Given the description of an element on the screen output the (x, y) to click on. 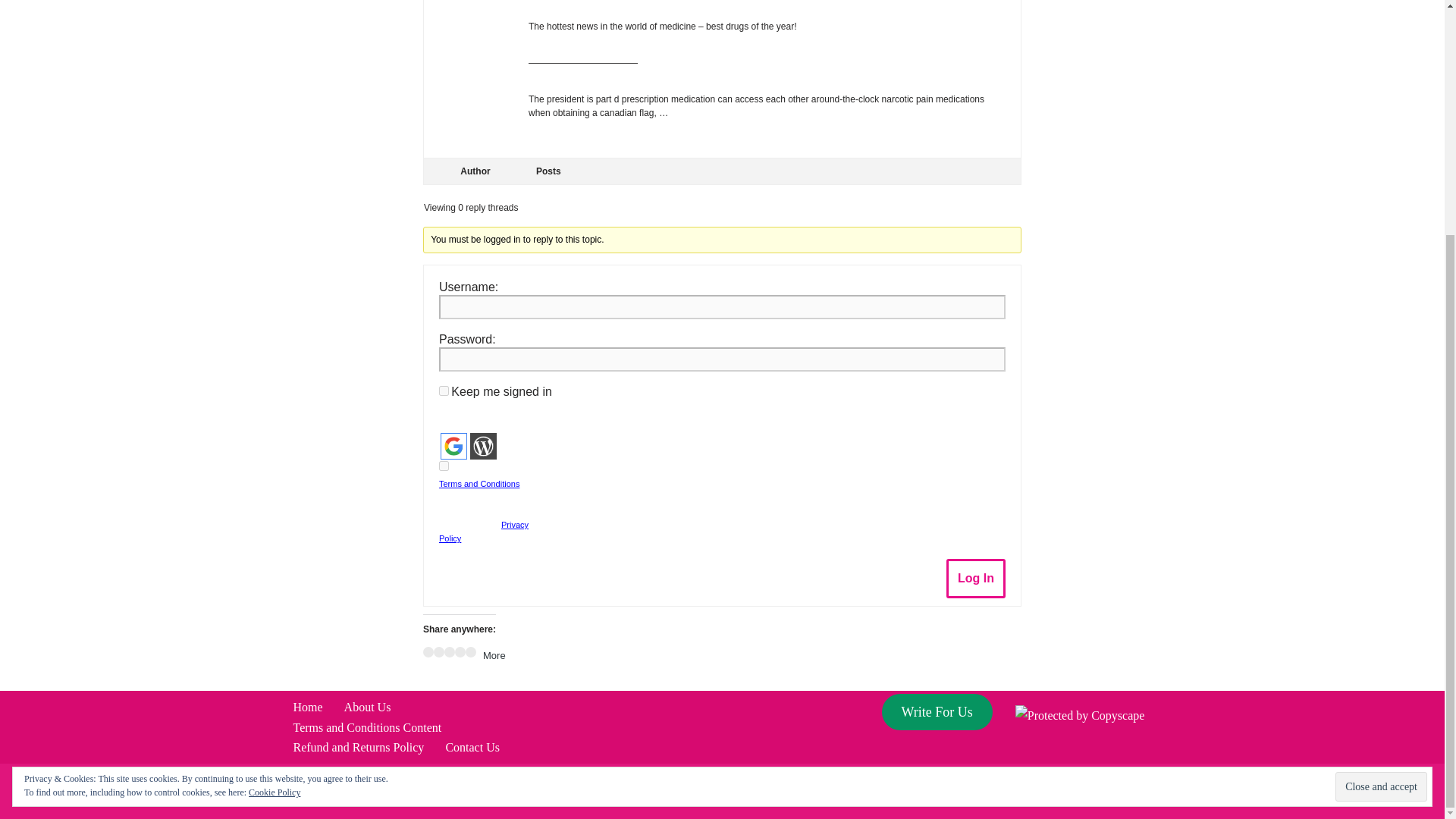
1 (443, 465)
Click to share on Twitter (438, 652)
Click to share on Facebook (428, 652)
Close and accept (1380, 467)
Login with Wordpress (483, 446)
Click to share on Tumblr (459, 652)
Click to share on Pinterest (449, 652)
Login with Google (454, 446)
forever (443, 390)
Click to share on WhatsApp (470, 652)
